Given the description of an element on the screen output the (x, y) to click on. 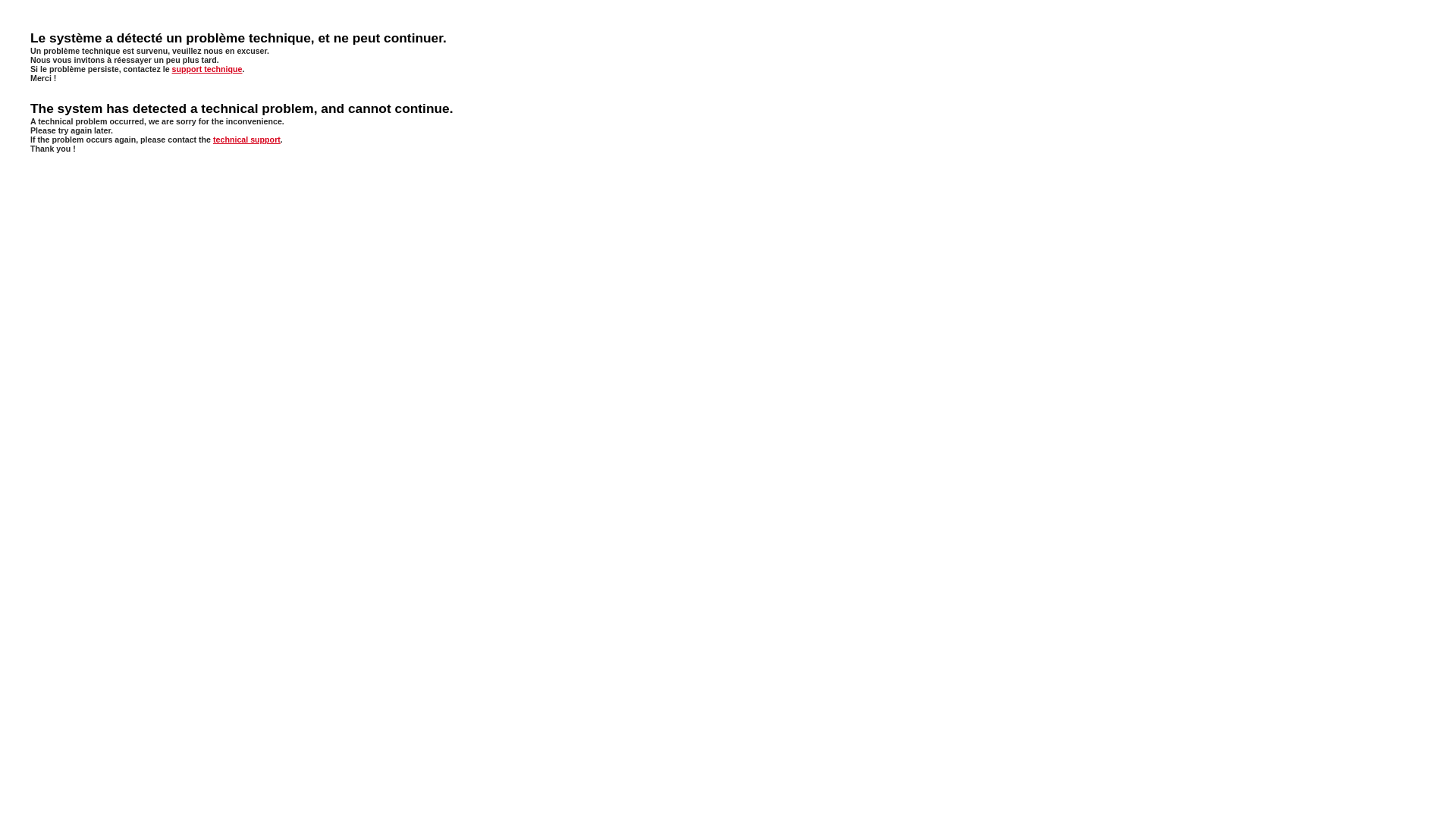
technical support Element type: text (246, 139)
support technique Element type: text (207, 68)
